Given the description of an element on the screen output the (x, y) to click on. 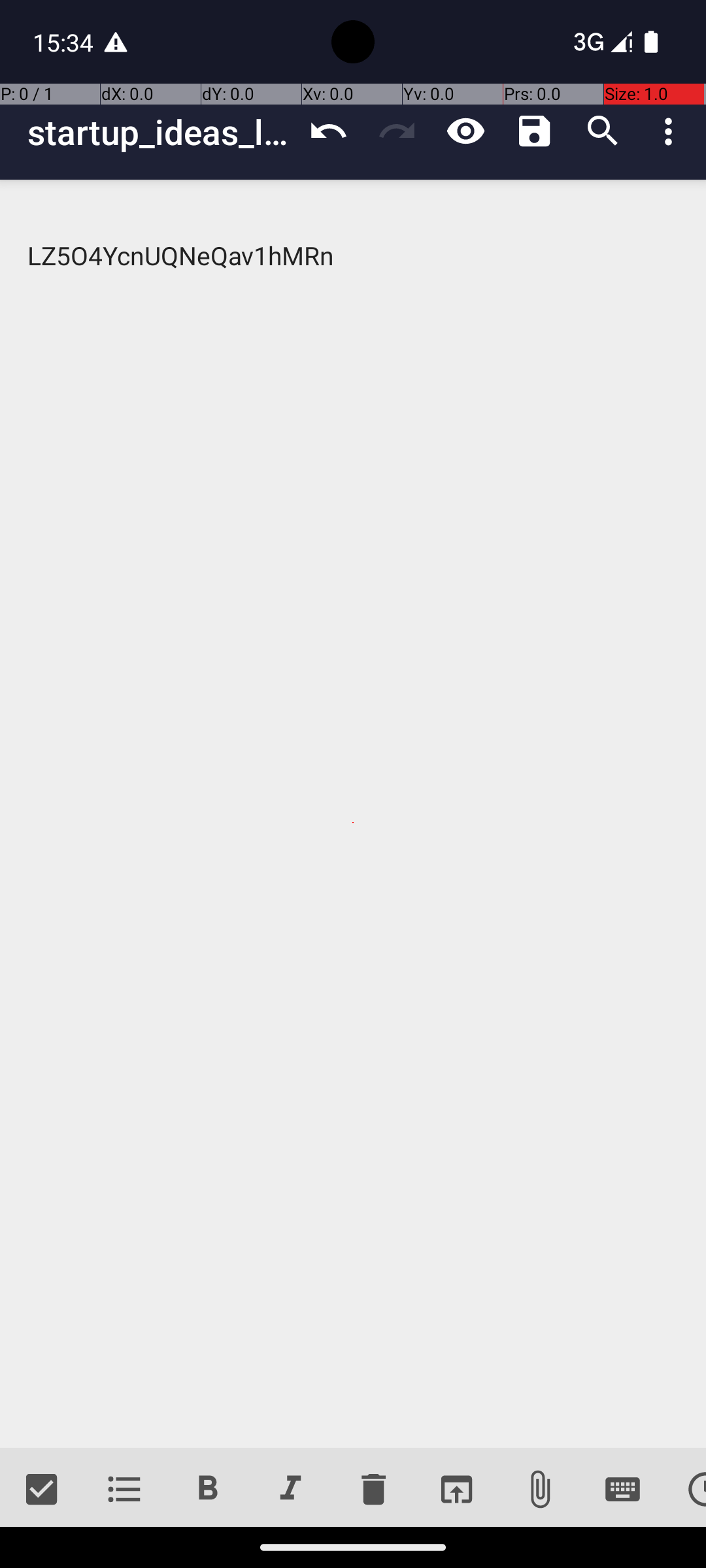
startup_ideas_launch_edited Element type: android.widget.TextView (160, 131)

LZ5O4YcnUQNeQav1hMRn Element type: android.widget.EditText (353, 813)
Bold Element type: android.widget.ImageView (207, 1488)
Italic Element type: android.widget.ImageView (290, 1488)
